Given the description of an element on the screen output the (x, y) to click on. 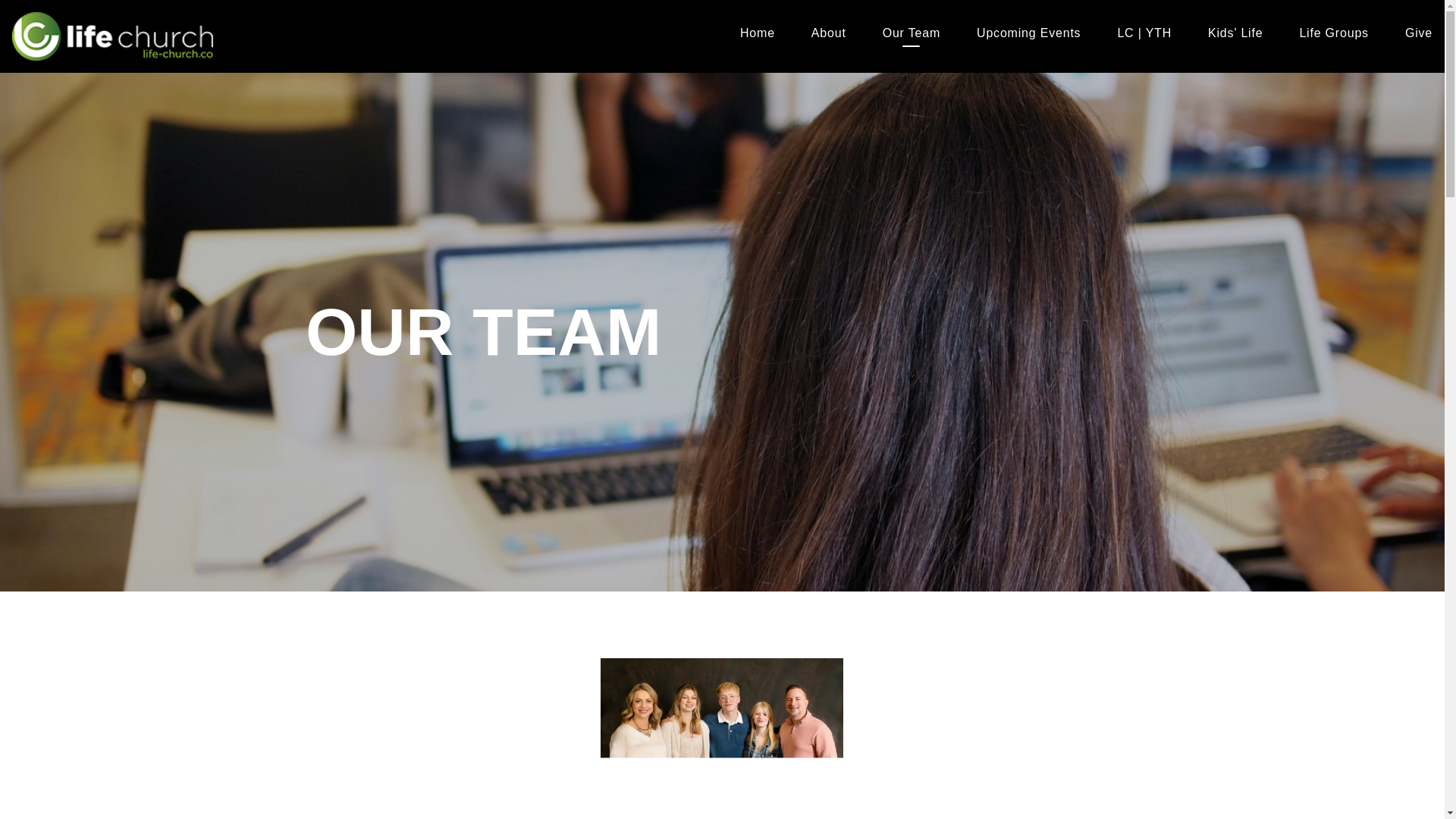
Life Groups (1333, 36)
Our Team (911, 36)
Upcoming Events (1028, 36)
About (827, 36)
Home (756, 36)
Give (1418, 36)
